Given the description of an element on the screen output the (x, y) to click on. 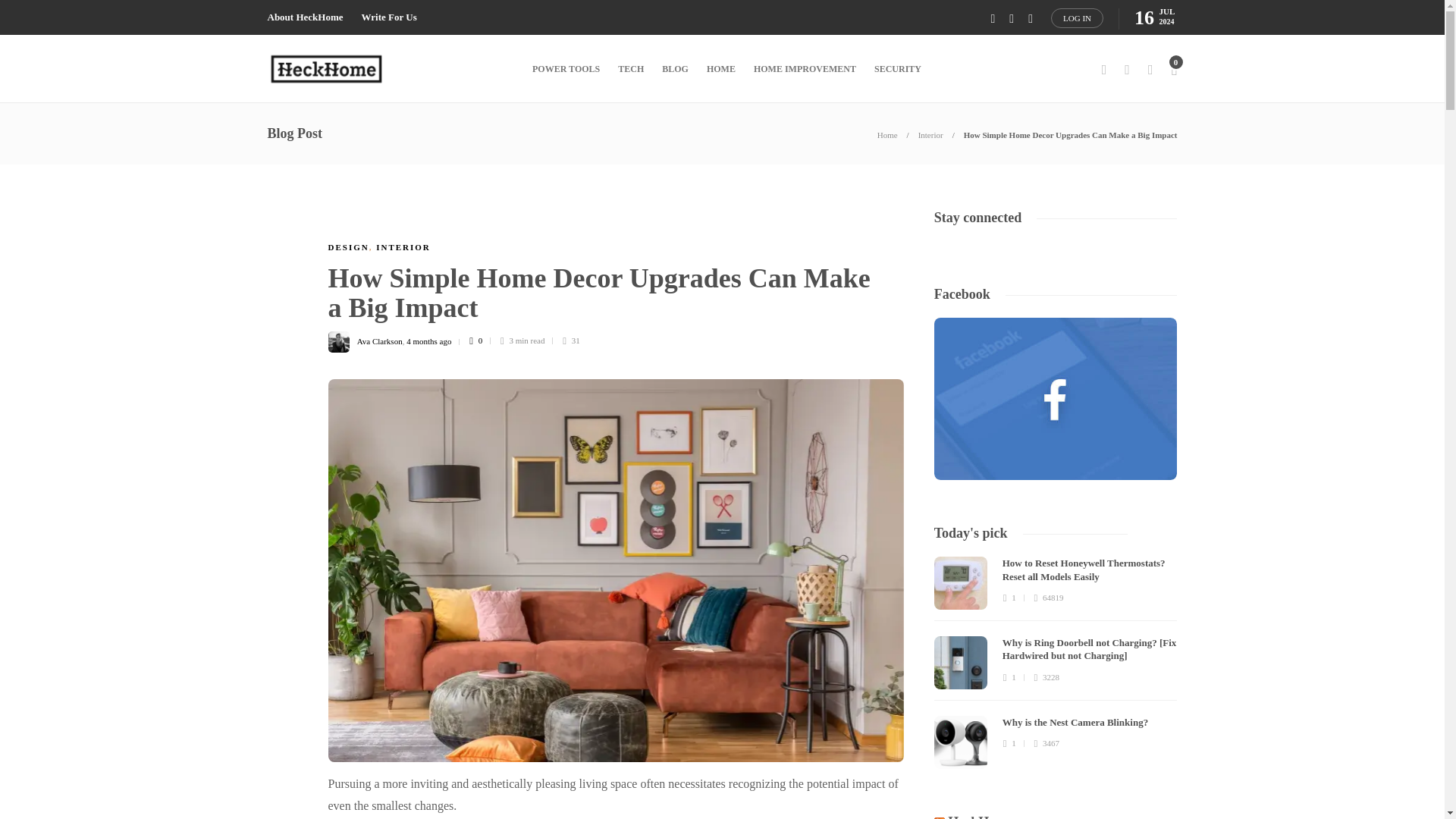
How Simple Home Decor Upgrades Can Make a Big Impact (1070, 134)
Home (887, 134)
